Given the description of an element on the screen output the (x, y) to click on. 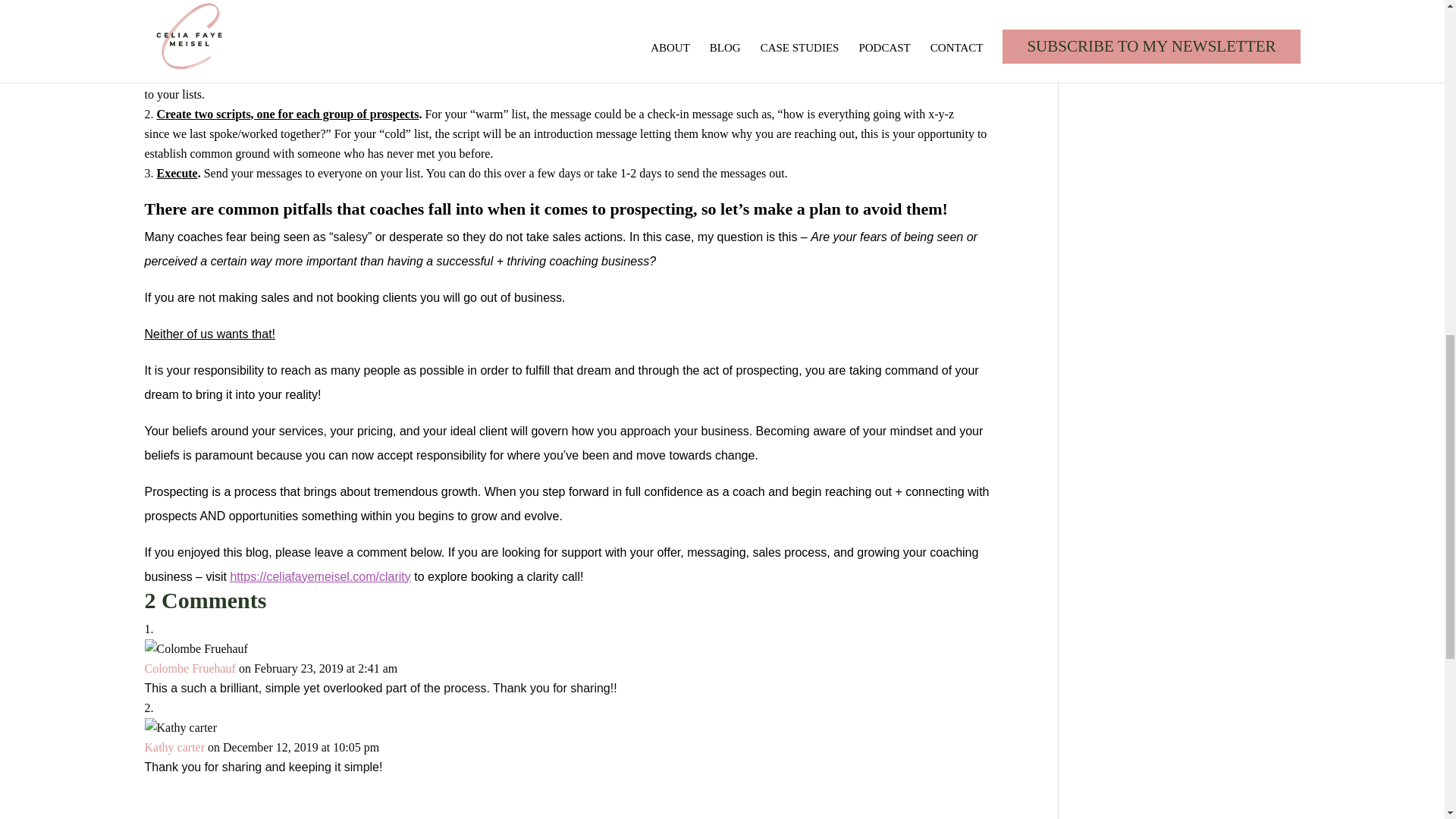
Kathy carter (174, 746)
Colombe Fruehauf (189, 667)
